Given the description of an element on the screen output the (x, y) to click on. 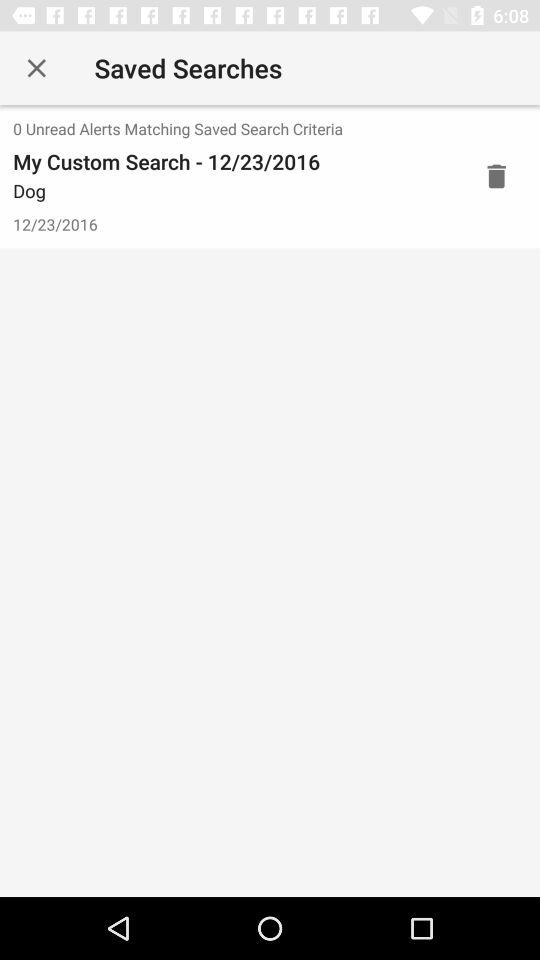
exit saved searches (36, 68)
